Given the description of an element on the screen output the (x, y) to click on. 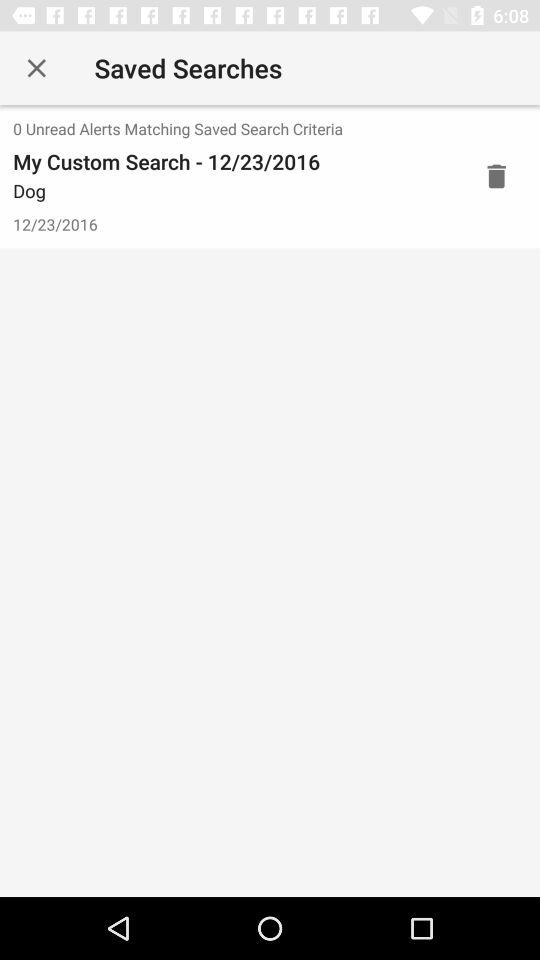
exit saved searches (36, 68)
